Given the description of an element on the screen output the (x, y) to click on. 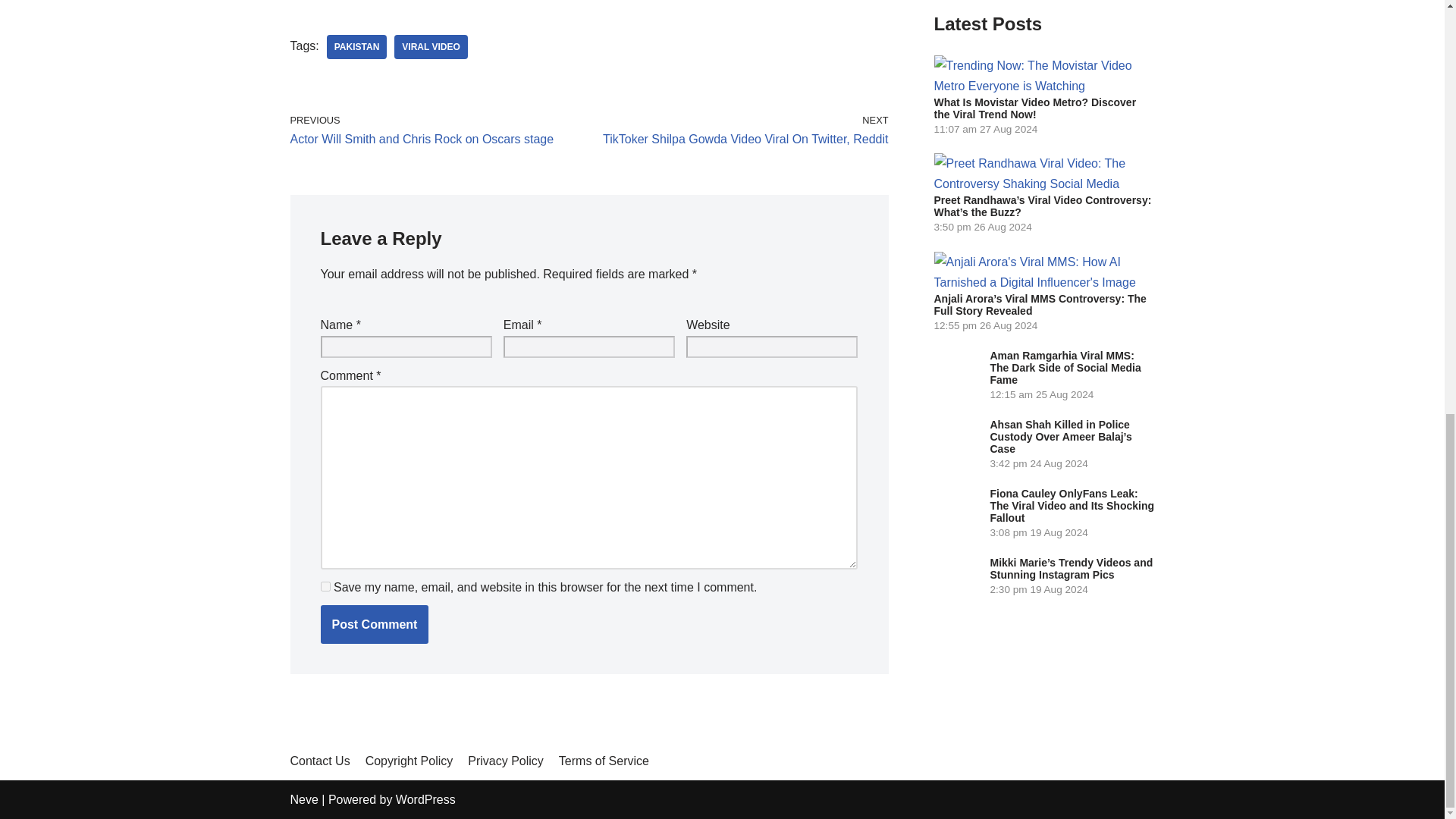
Pakistan (356, 46)
Viral Video (430, 46)
Post Comment (374, 624)
yes (325, 586)
